Given the description of an element on the screen output the (x, y) to click on. 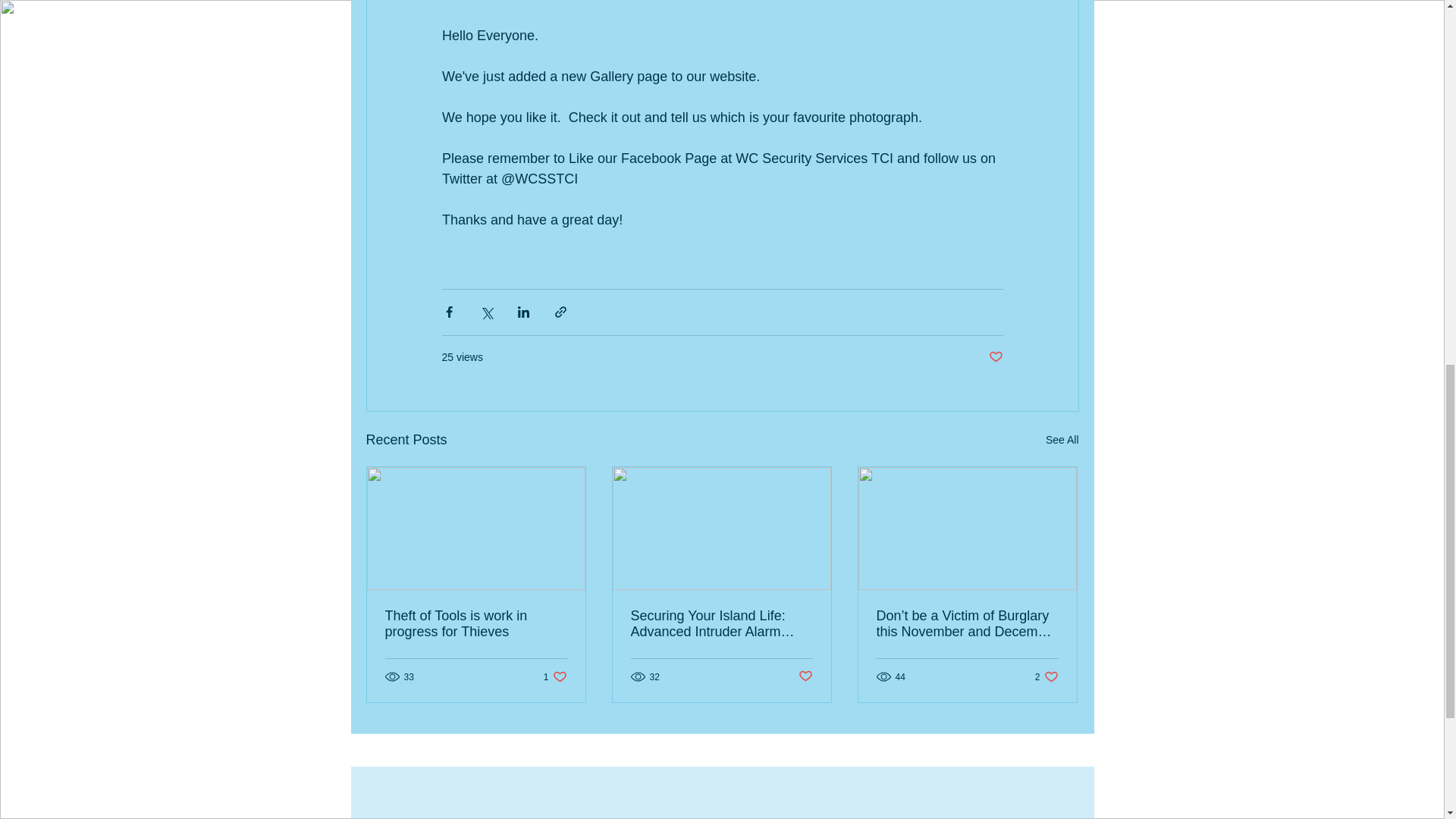
Post not marked as liked (804, 676)
Facebook Like (1046, 783)
Post not marked as liked (995, 356)
Twitter Tweet (986, 783)
See All (1061, 440)
Theft of Tools is work in progress for Thieves (1046, 676)
